Given the description of an element on the screen output the (x, y) to click on. 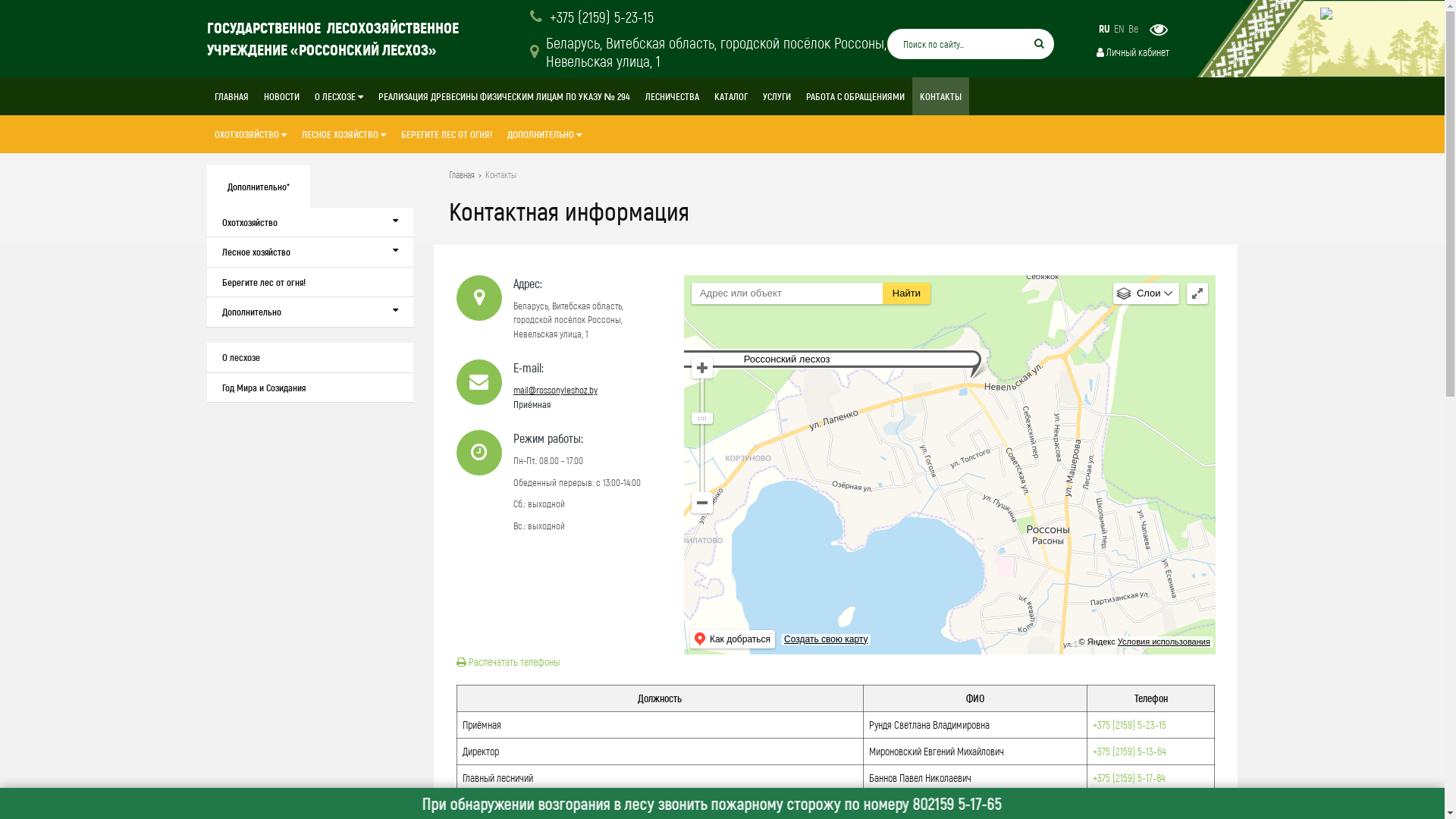
+375 (2159) 5-23-15 Element type: text (1129, 724)
Be Element type: text (1133, 28)
+375 (2159) 5-23-15 Element type: text (591, 16)
+375 (2159) 5-17-84 Element type: text (1128, 777)
RU Element type: text (1104, 28)
mail@rossonyleshoz.by Element type: text (555, 389)
+375 (2159) 5-62-15 Element type: text (1129, 803)
+375 (2159) 5-13-64 Element type: text (1129, 750)
EN Element type: text (1118, 28)
